Given the description of an element on the screen output the (x, y) to click on. 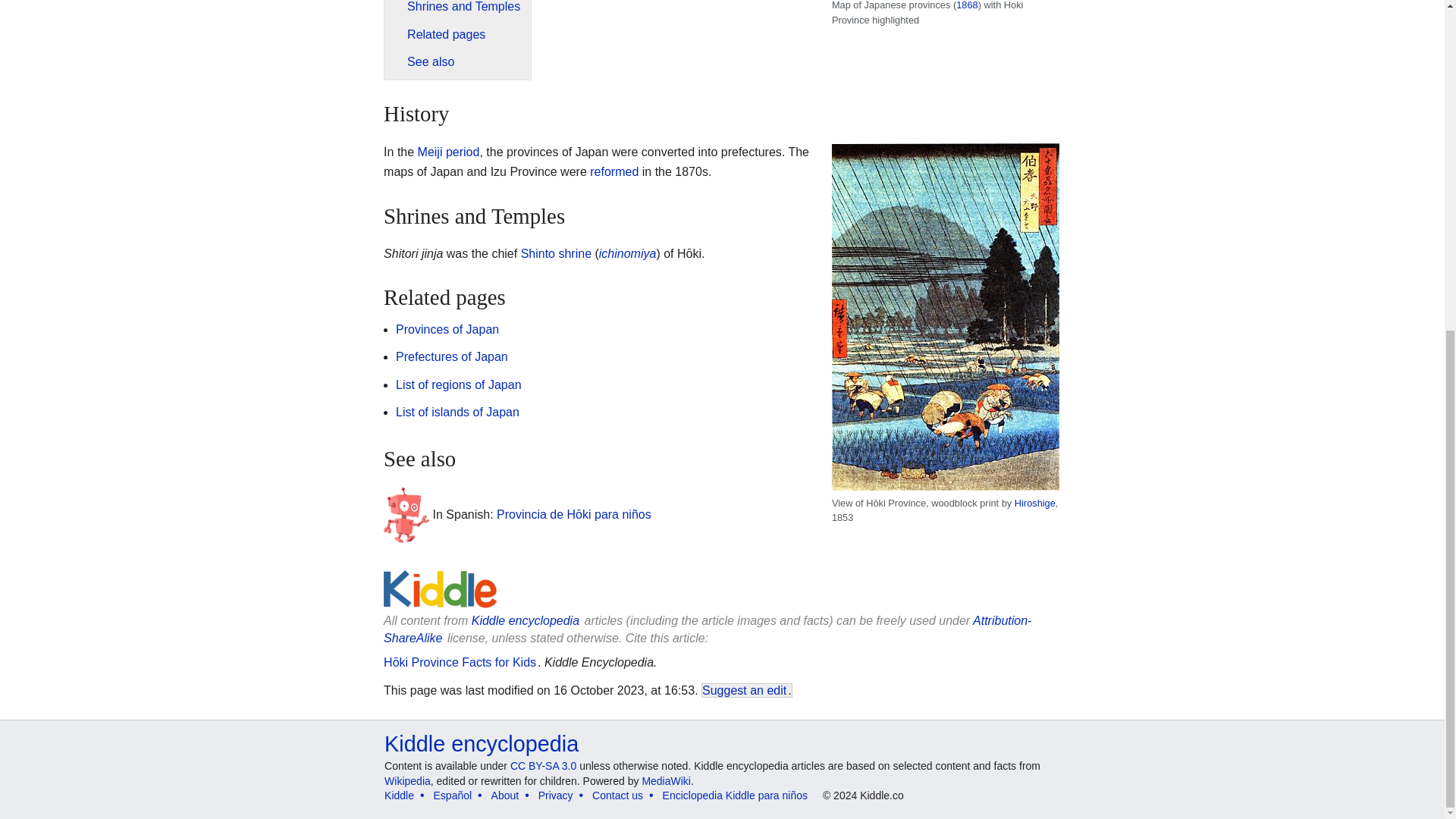
1868 (966, 5)
Shrines and Temples (463, 6)
Hiroshige (1034, 502)
ichinomiya (627, 253)
Prefectures of Japan (452, 356)
See also (430, 61)
1868 (966, 5)
List of regions of Japan (458, 384)
Hiroshige (1034, 502)
Provinces of Japan (447, 328)
Meiji period (448, 151)
List of islands of Japan (457, 411)
Related pages (445, 33)
reformed (614, 171)
Shinto shrine (556, 253)
